Given the description of an element on the screen output the (x, y) to click on. 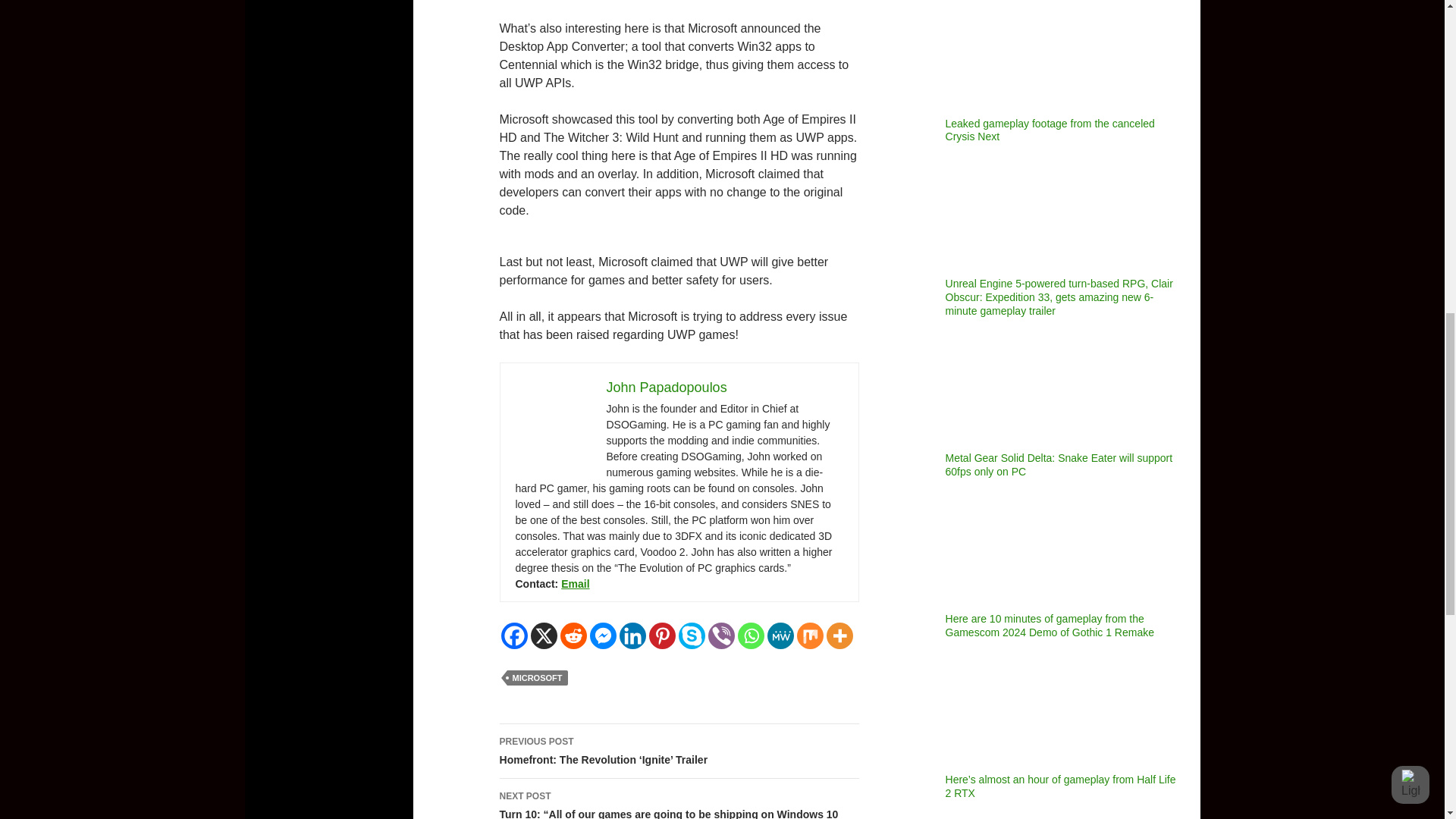
John Papadopoulos (666, 387)
Facebook (513, 635)
Email (574, 583)
X (544, 635)
